Given the description of an element on the screen output the (x, y) to click on. 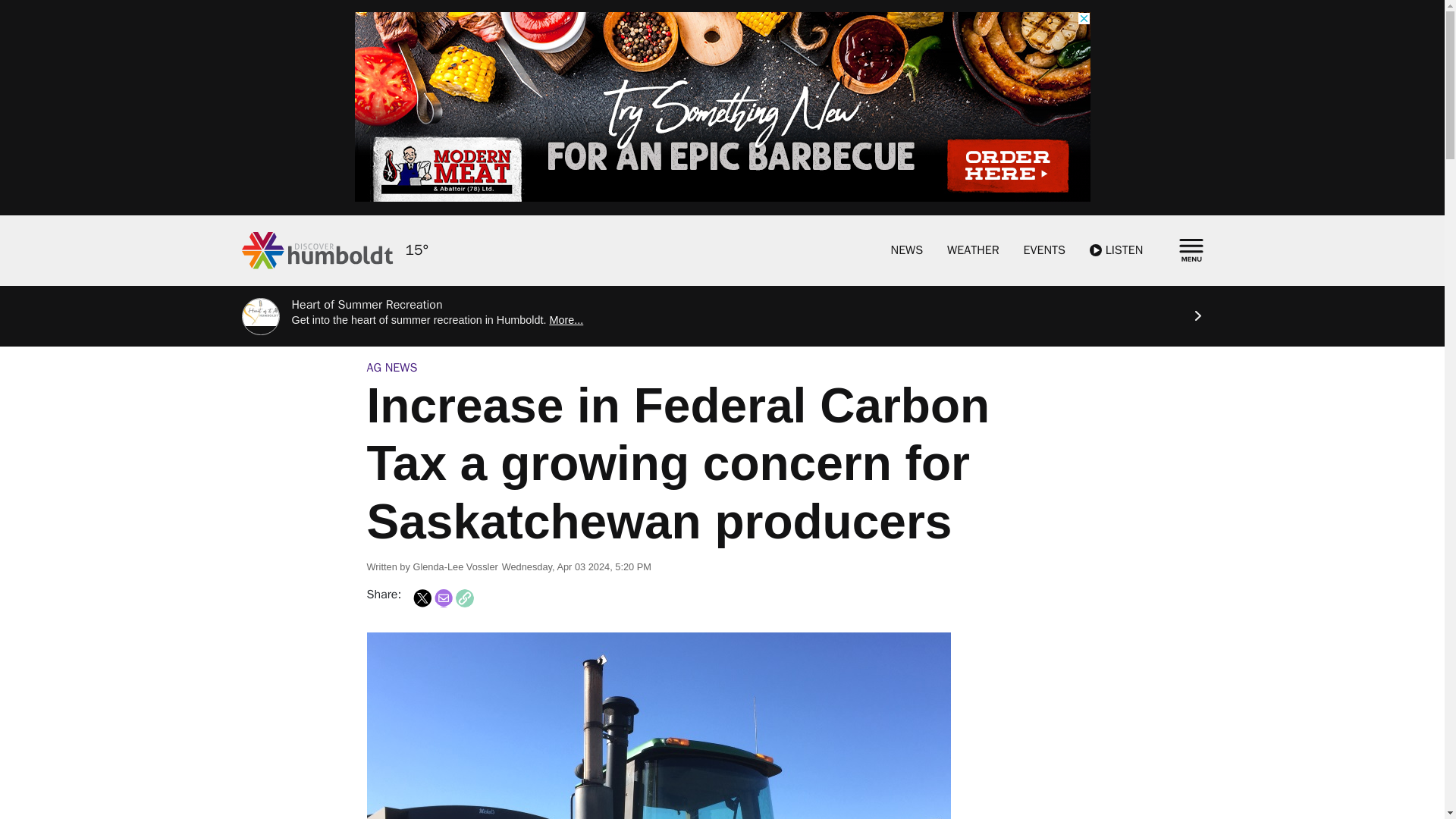
Share to Email (442, 597)
Copy Link (464, 597)
